Given the description of an element on the screen output the (x, y) to click on. 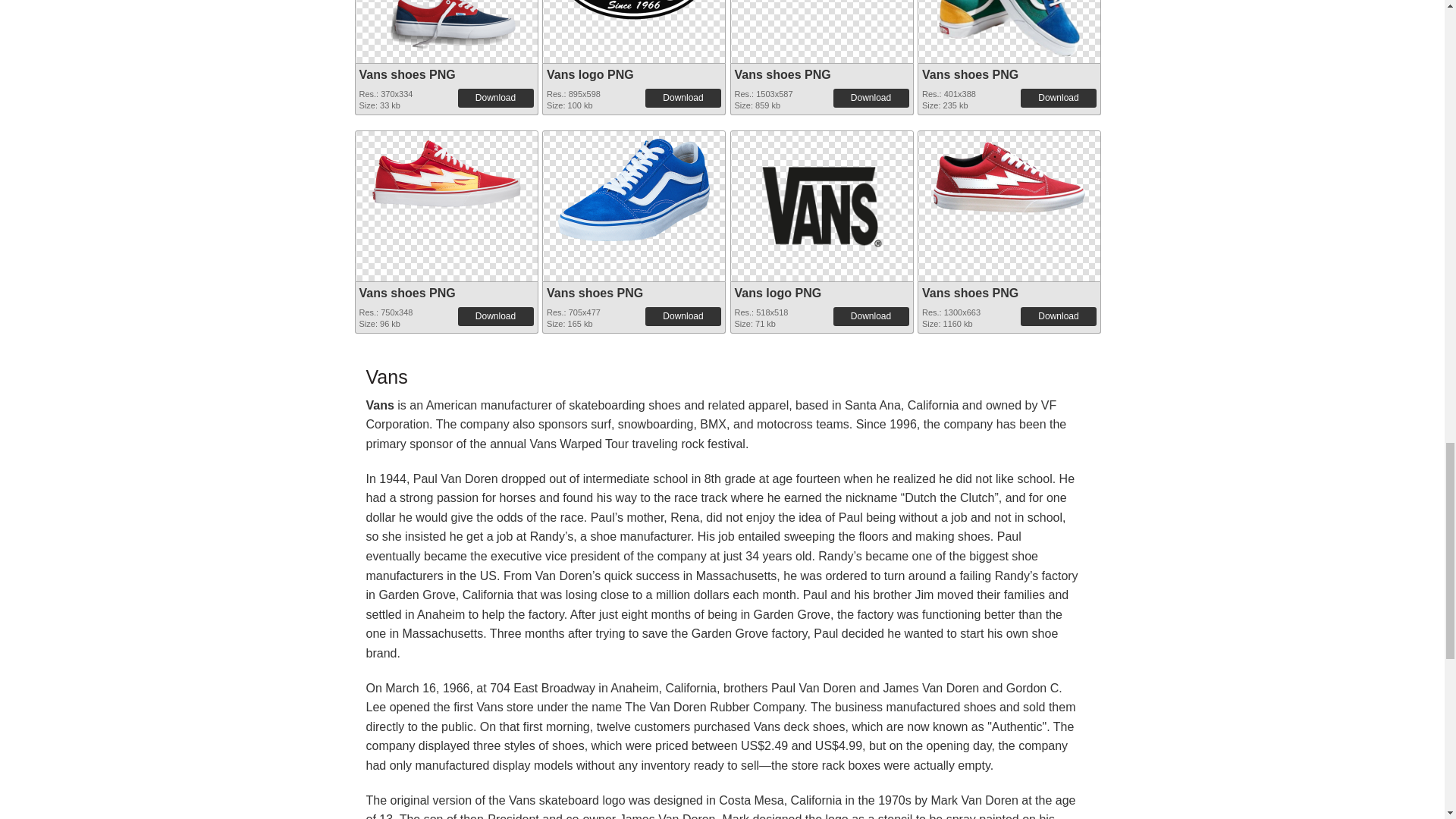
Download (870, 97)
Vans logo PNG (590, 74)
Download (496, 97)
Vans shoes PNG (407, 74)
Download (682, 97)
Vans logo PNG (633, 10)
Vans shoes PNG (781, 74)
Vans shoes PNG (969, 74)
Vans shoes PNG (445, 28)
Download (1058, 97)
